Given the description of an element on the screen output the (x, y) to click on. 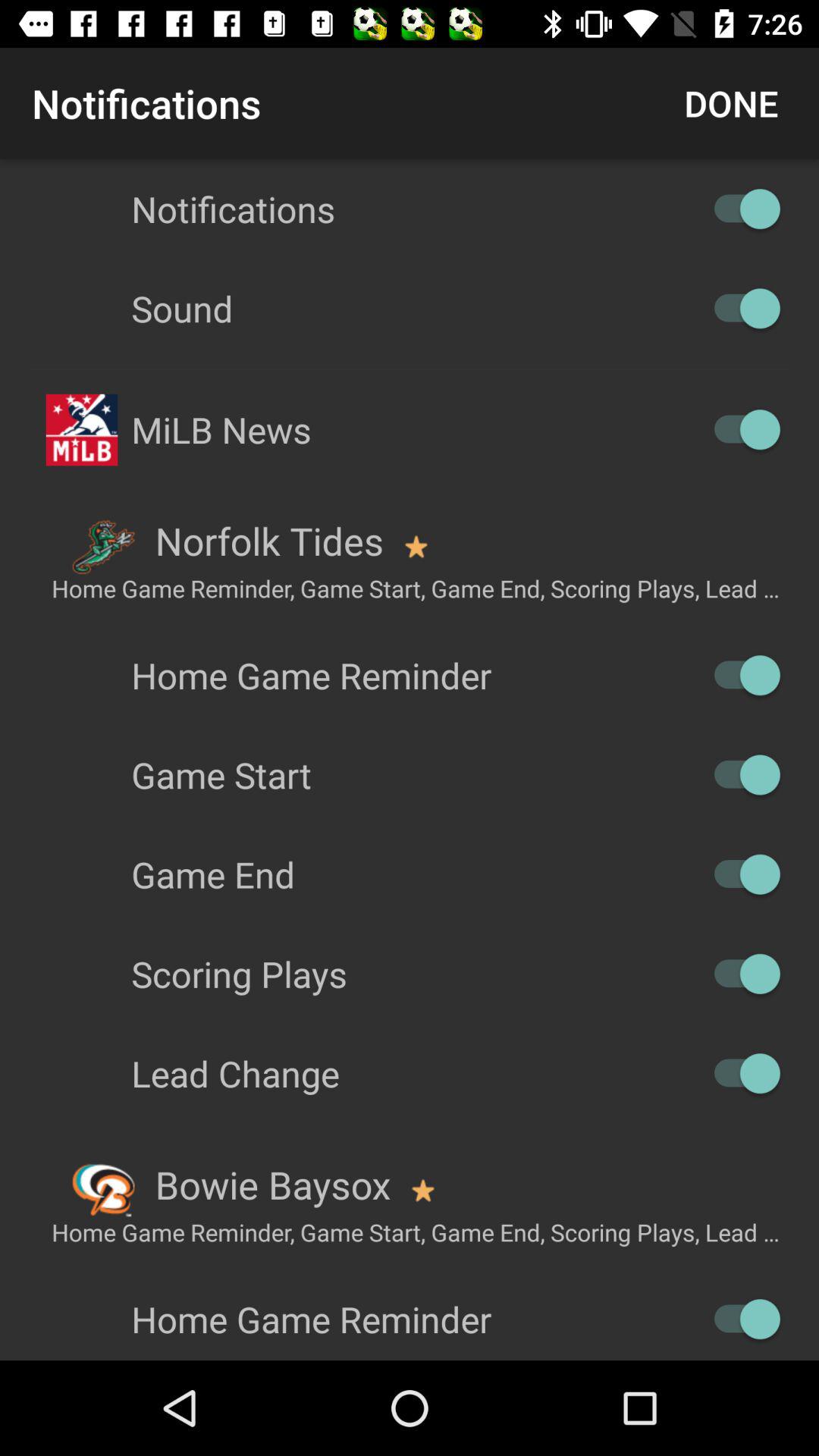
toggle off (739, 1073)
